Given the description of an element on the screen output the (x, y) to click on. 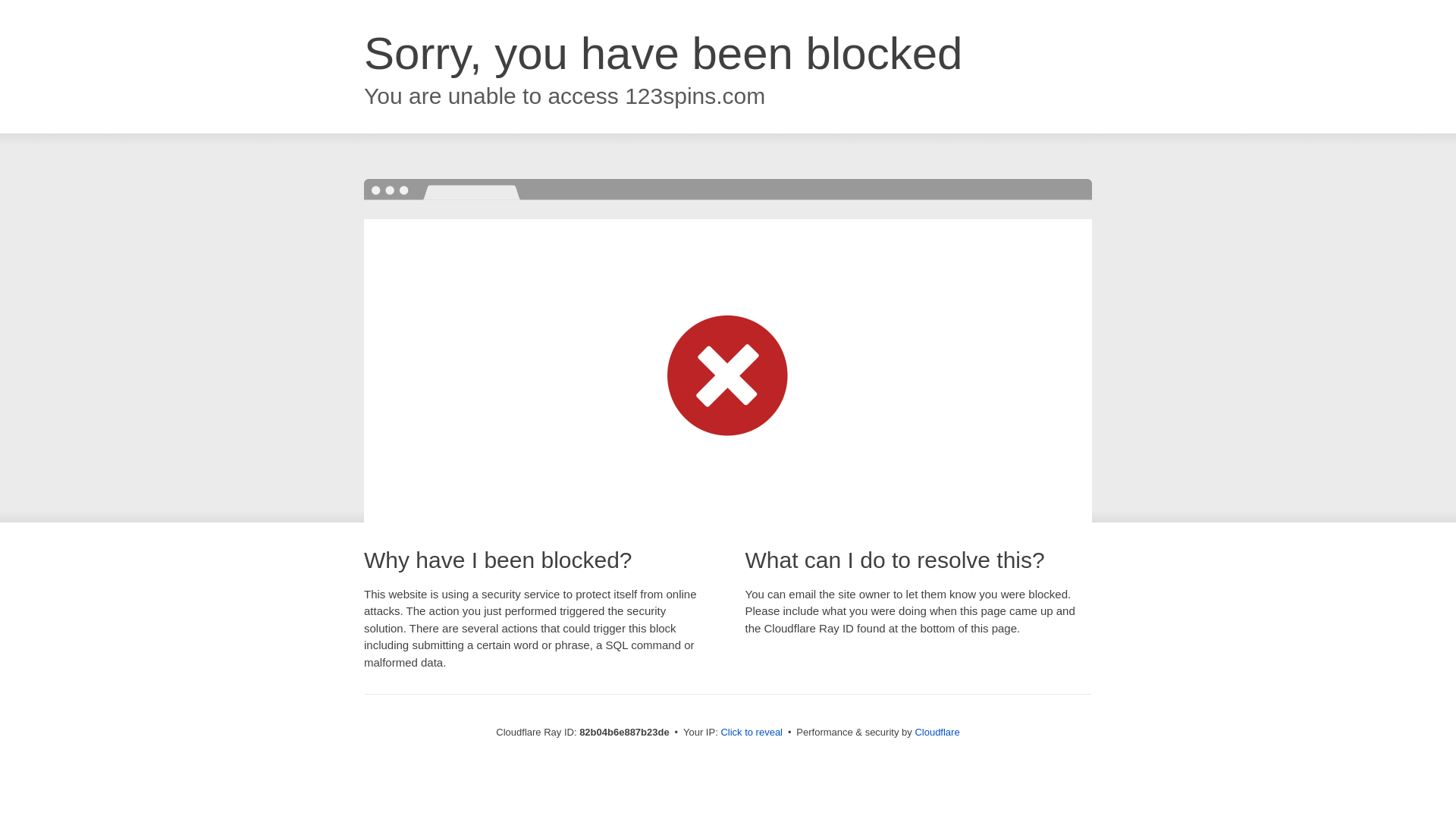
Click to reveal Element type: text (751, 732)
Cloudflare Element type: text (936, 731)
